Given the description of an element on the screen output the (x, y) to click on. 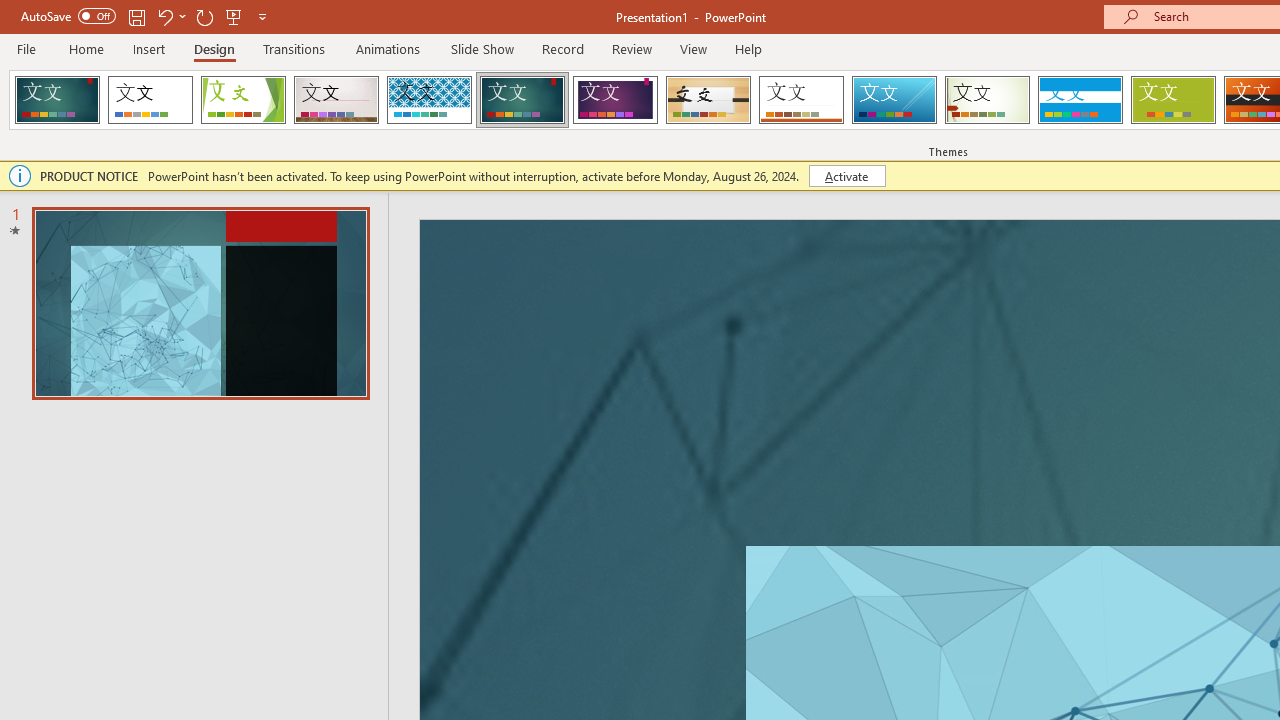
Wisp (987, 100)
